Given the description of an element on the screen output the (x, y) to click on. 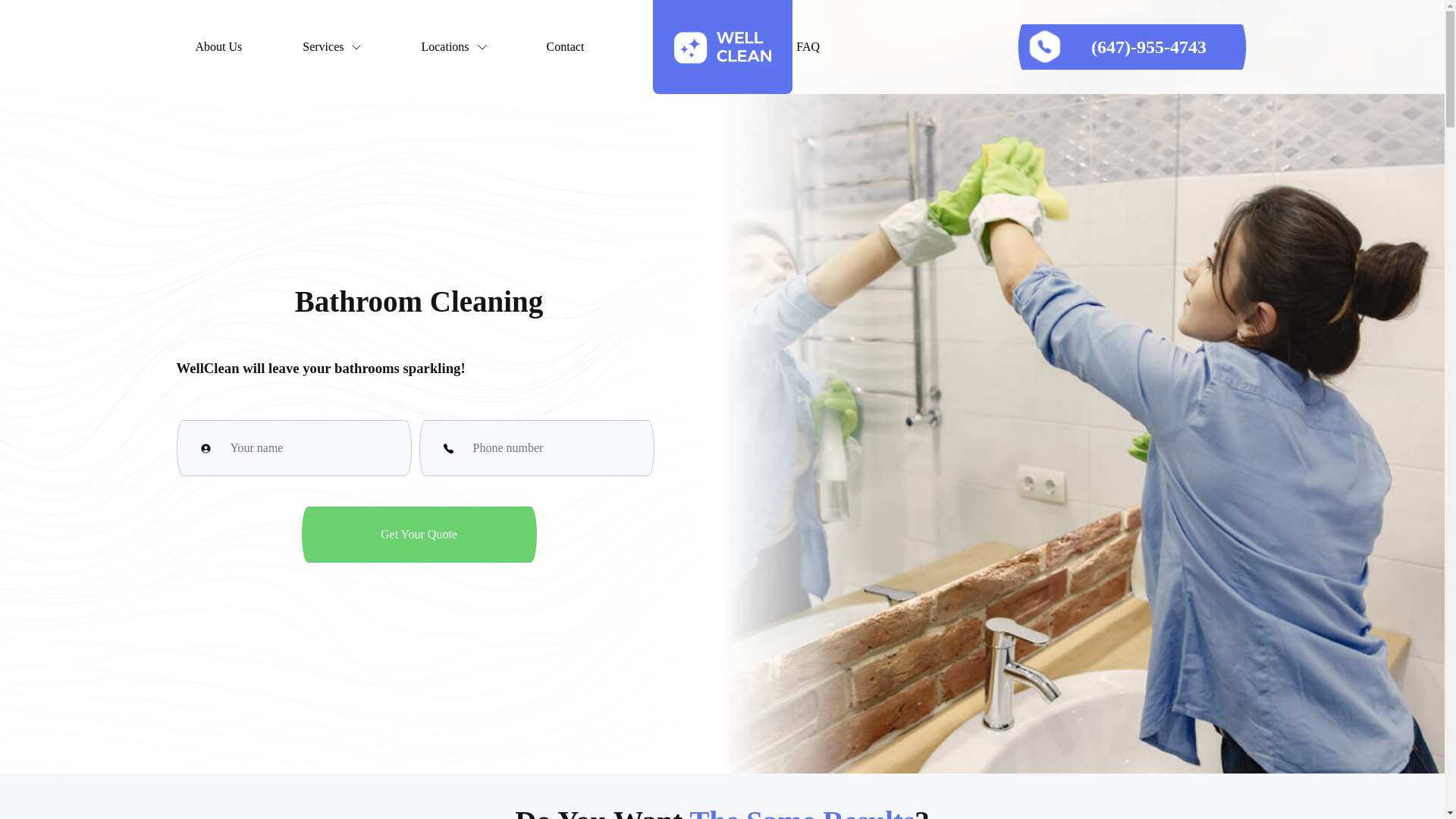
About Us (218, 47)
Get your quote (419, 534)
Services (330, 47)
